Given the description of an element on the screen output the (x, y) to click on. 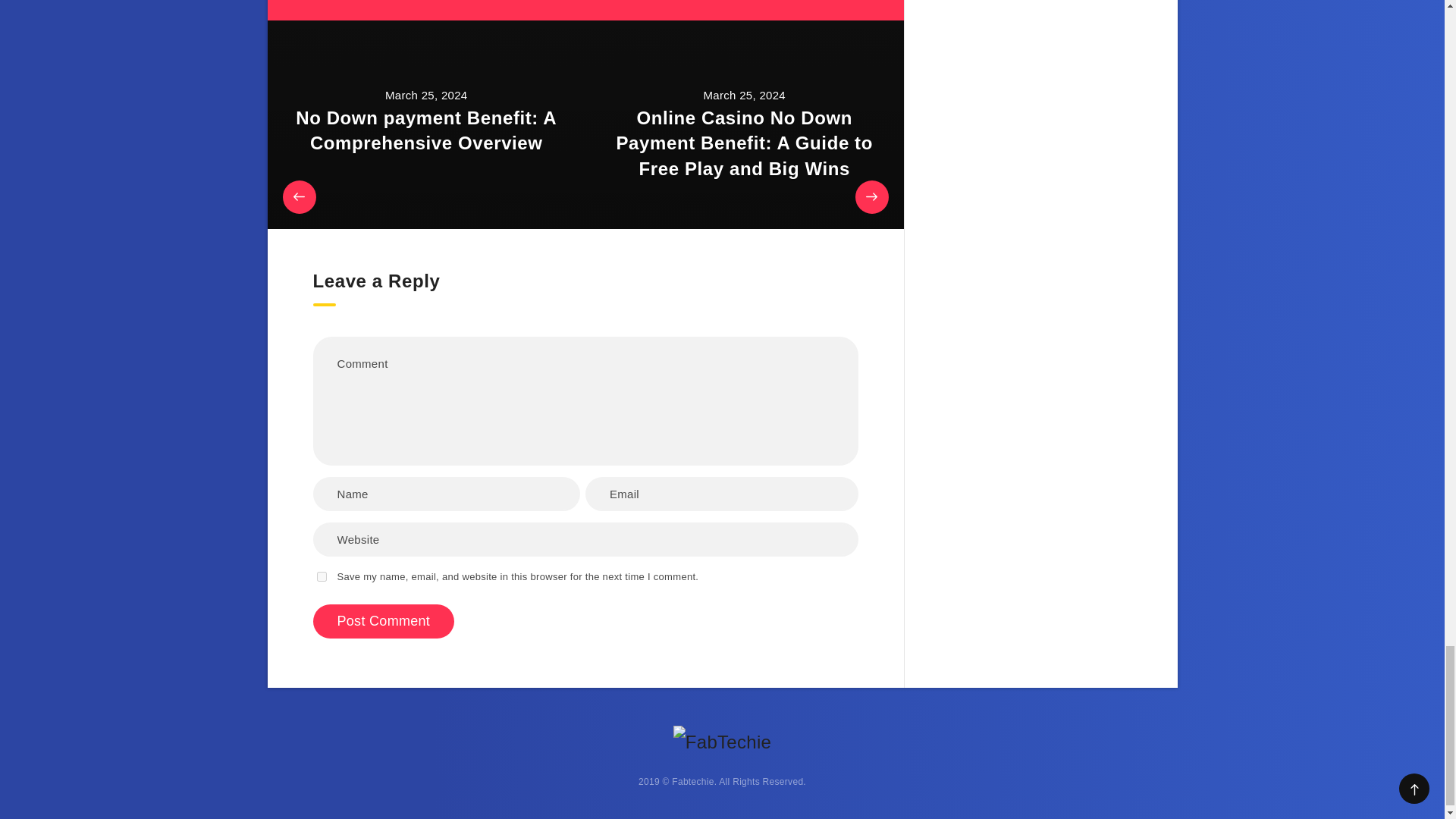
Post Comment (383, 621)
Post Comment (383, 621)
yes (321, 576)
